Given the description of an element on the screen output the (x, y) to click on. 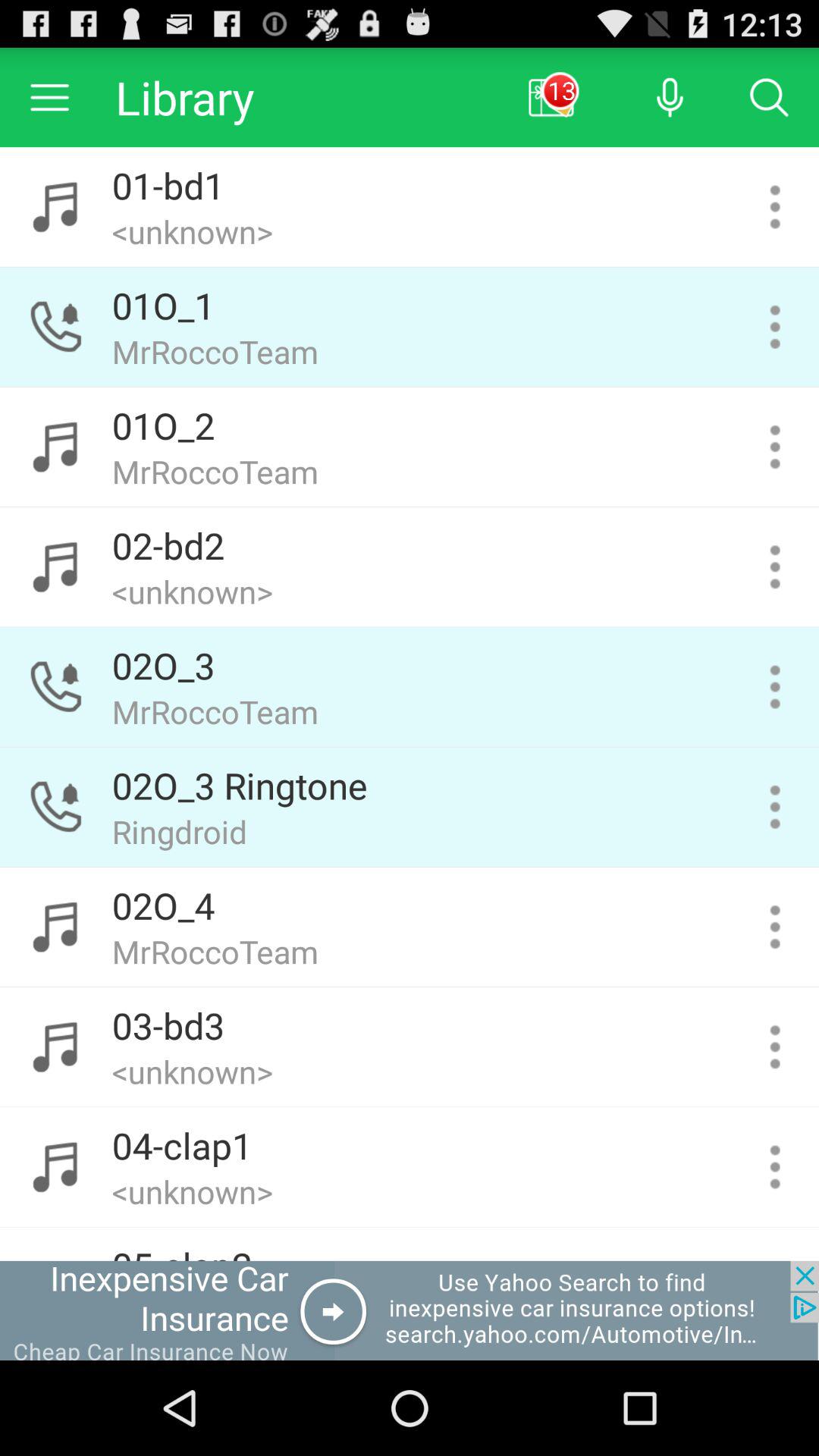
open context menu (775, 1046)
